Given the description of an element on the screen output the (x, y) to click on. 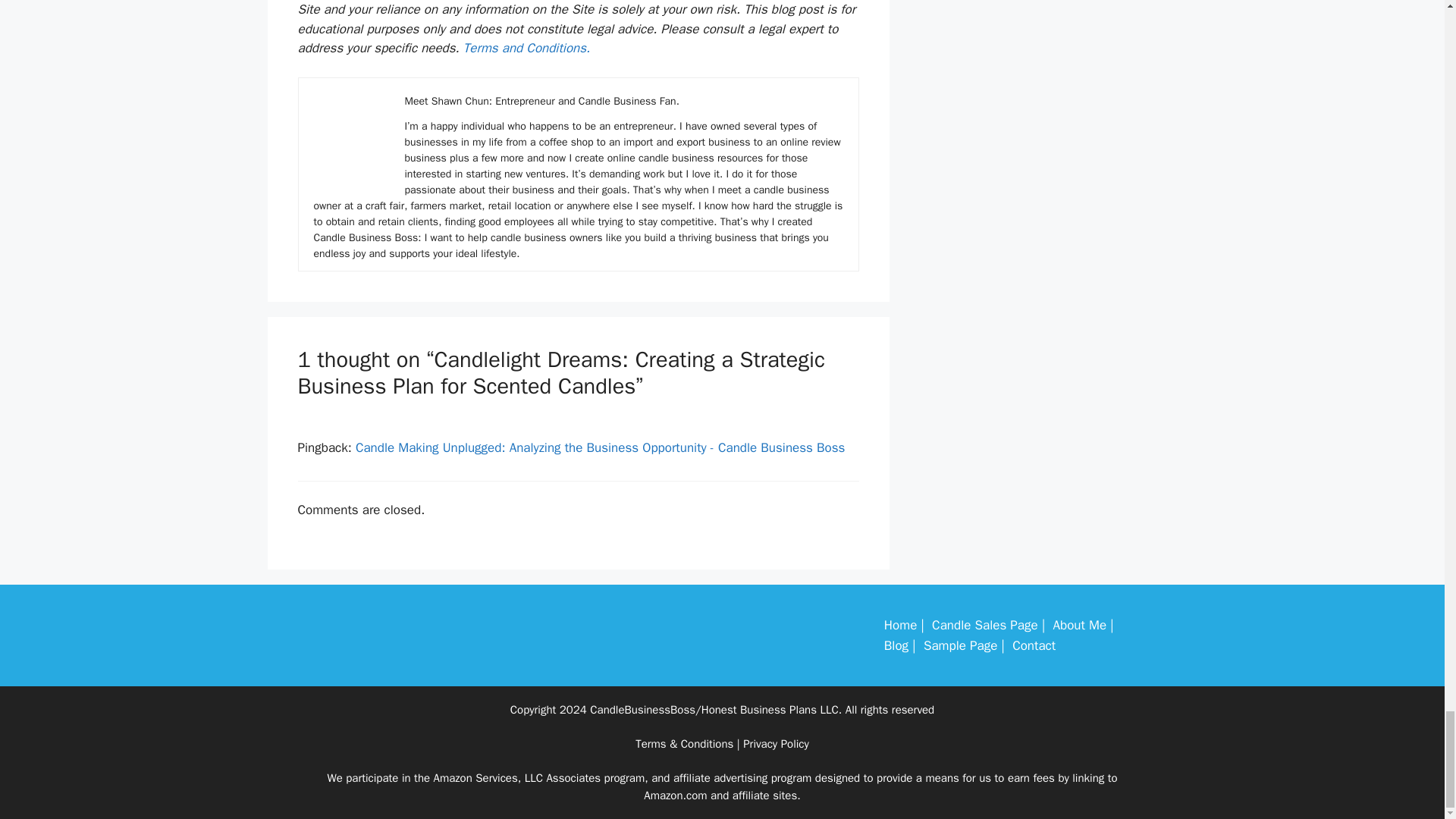
Terms and Conditions. (526, 48)
